Given the description of an element on the screen output the (x, y) to click on. 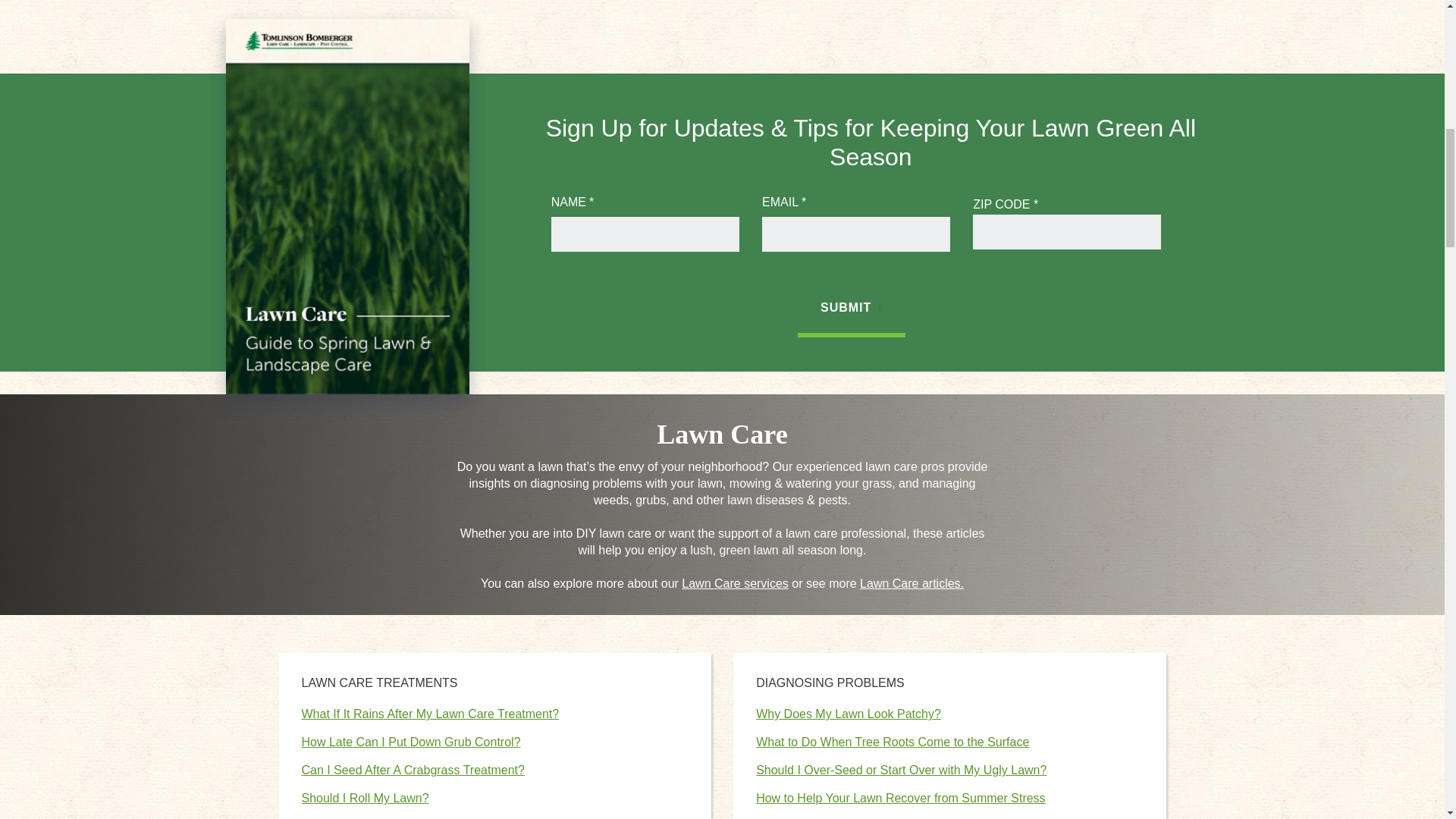
How Late Can I Put Down Grub Control? (411, 741)
SUBMIT (851, 309)
What If It Rains After My Lawn Care Treatment? (430, 713)
Lawn Care services (735, 583)
Lawn Care articles. (911, 583)
Should I Roll My Lawn? (365, 797)
Can I Seed After A Crabgrass Treatment? (412, 769)
